Given the description of an element on the screen output the (x, y) to click on. 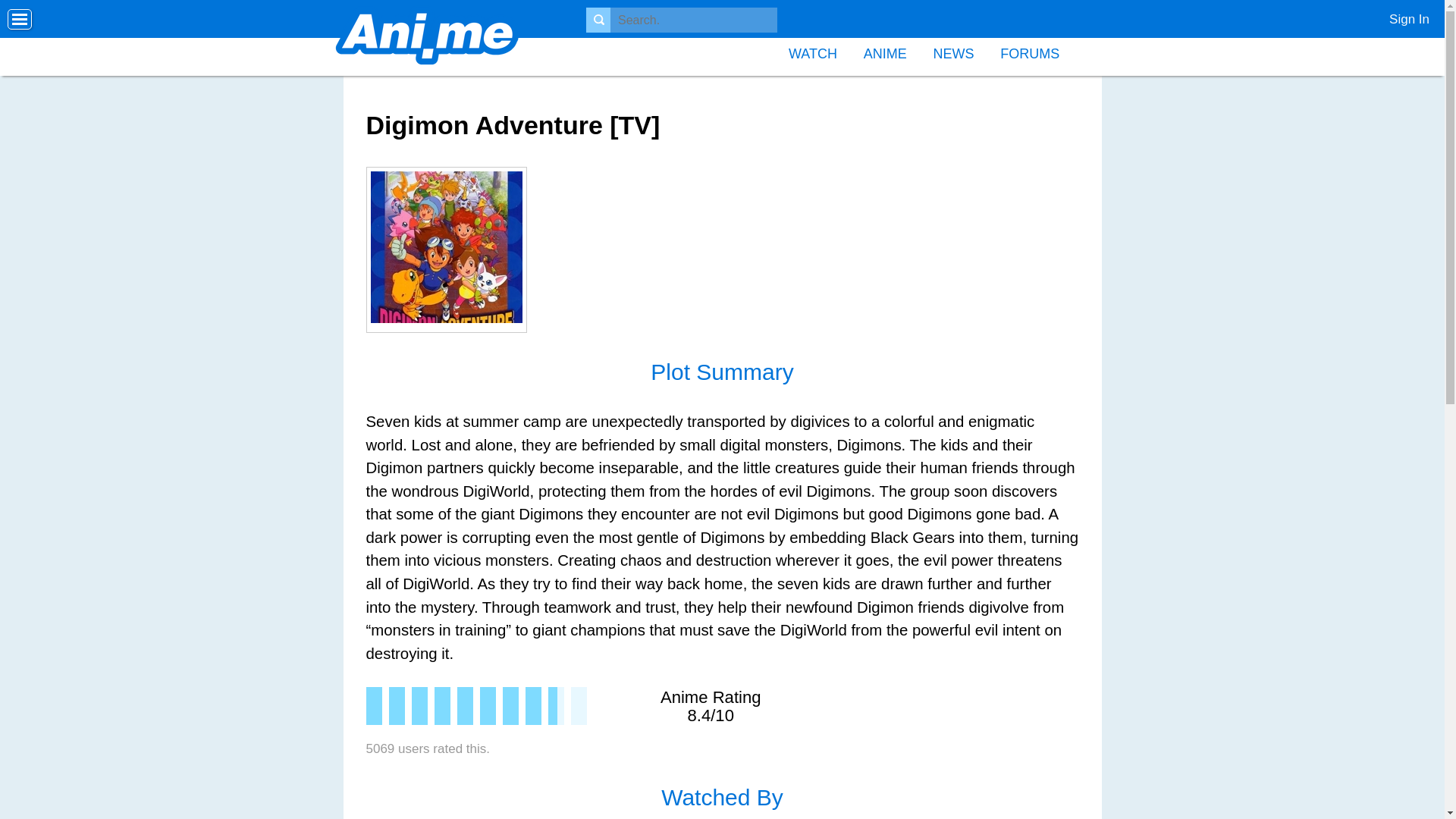
Home (427, 38)
NEWS (953, 52)
Search (28, 12)
WATCH (812, 52)
FORUMS (1029, 52)
ANIME (884, 52)
Options Menu (19, 19)
Sign In (1402, 15)
